Given the description of an element on the screen output the (x, y) to click on. 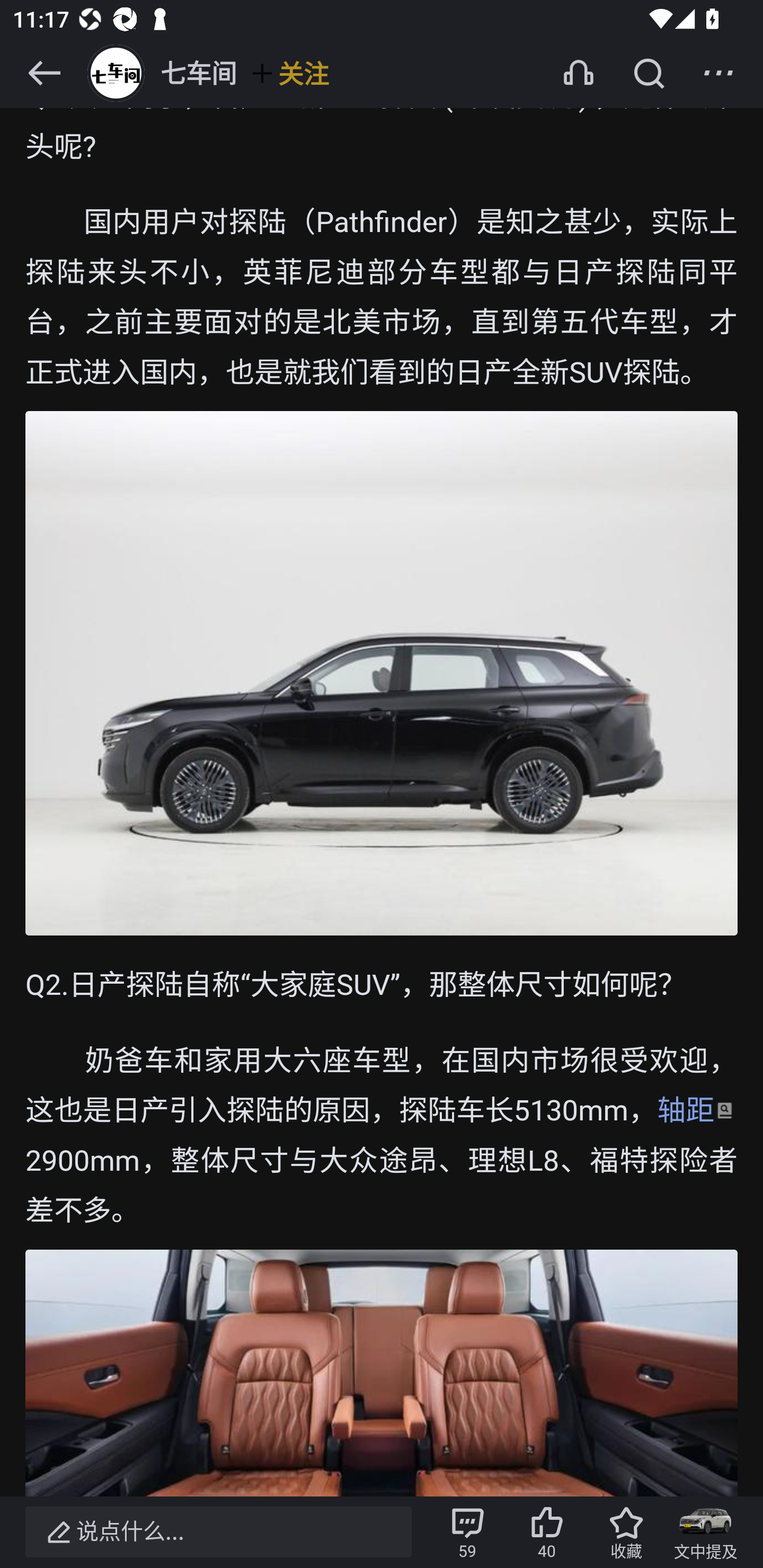
七车间 (159, 72)
 (44, 72)
 (648, 72)
 (718, 72)
 关注 (288, 73)
oBZyGy0z44B8odJYIO1TFd8F9BY (381, 673)
uUqfyQghHd9-Mq-SBCS8YarrTmI (381, 1373)
 59 (467, 1531)
40 (546, 1531)
收藏 (625, 1531)
文中提及 (705, 1531)
 说点什么... (218, 1531)
